Given the description of an element on the screen output the (x, y) to click on. 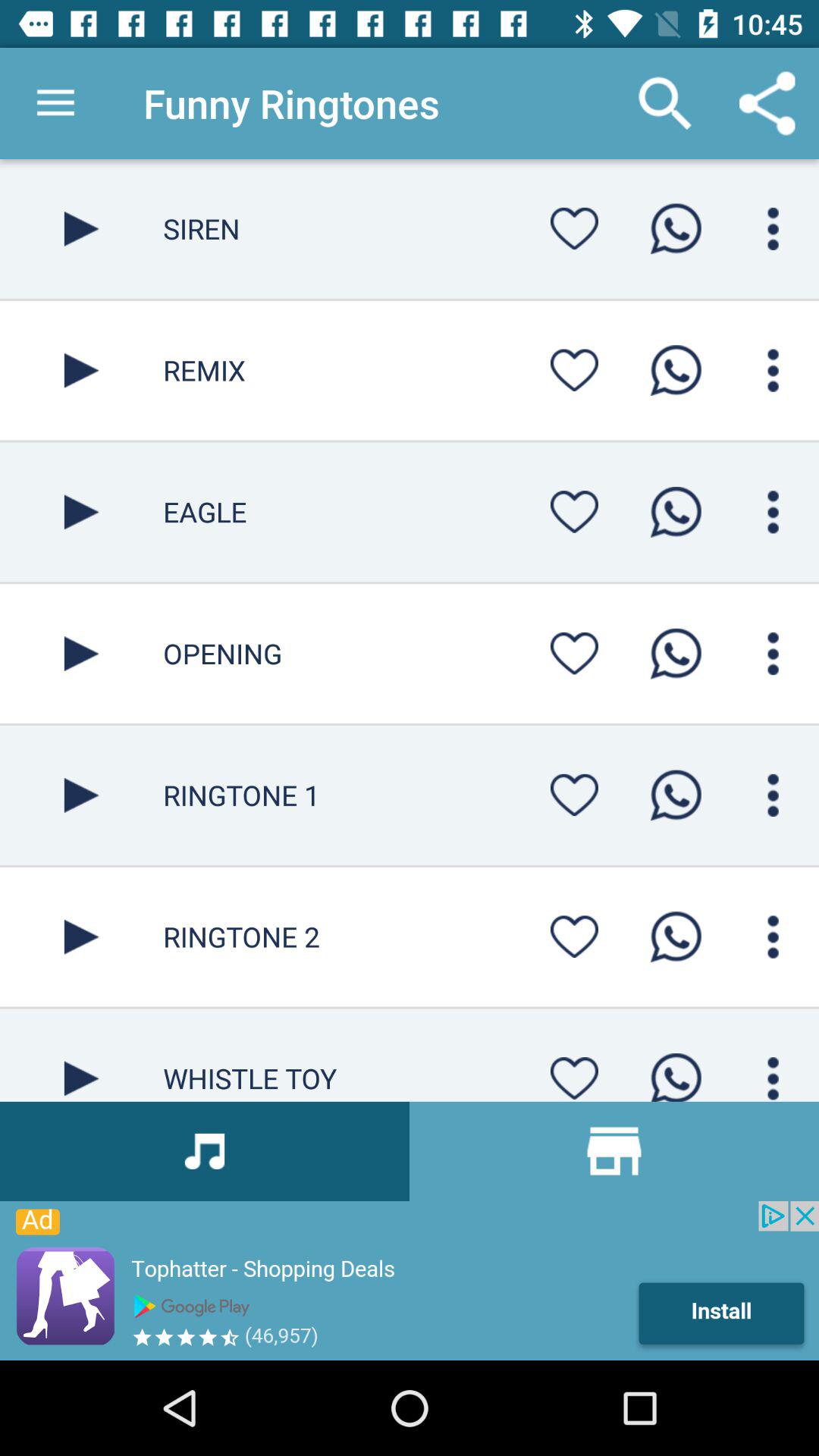
mark as favorite (574, 653)
